Given the description of an element on the screen output the (x, y) to click on. 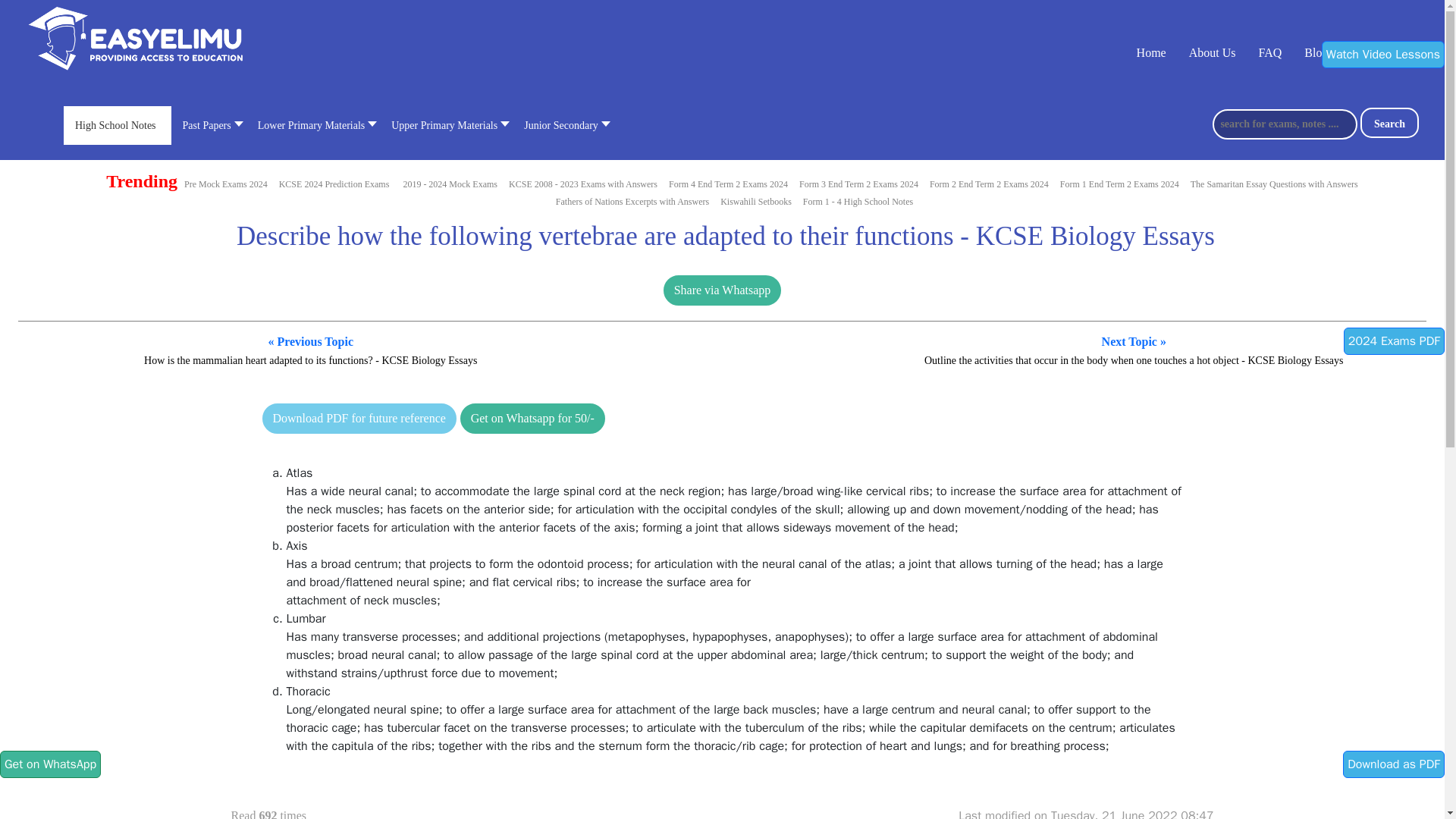
FAQ (1269, 51)
KCSE Past Exams (582, 184)
Form 4 End Term 2 Exams 2024 (727, 184)
Pre mocks, Post mocks , KCSE mock exams (449, 184)
About Us (1212, 51)
High School Notes PDF (857, 201)
Home (1151, 51)
Bembea, Nguu , Mapambazuko Guides (756, 201)
2024 KCSE Prediction Exams with Marking Schemes (334, 184)
Blog (1315, 51)
The Samaritan Essays (1274, 184)
Contact Us (1378, 51)
High School Notes (117, 125)
